Given the description of an element on the screen output the (x, y) to click on. 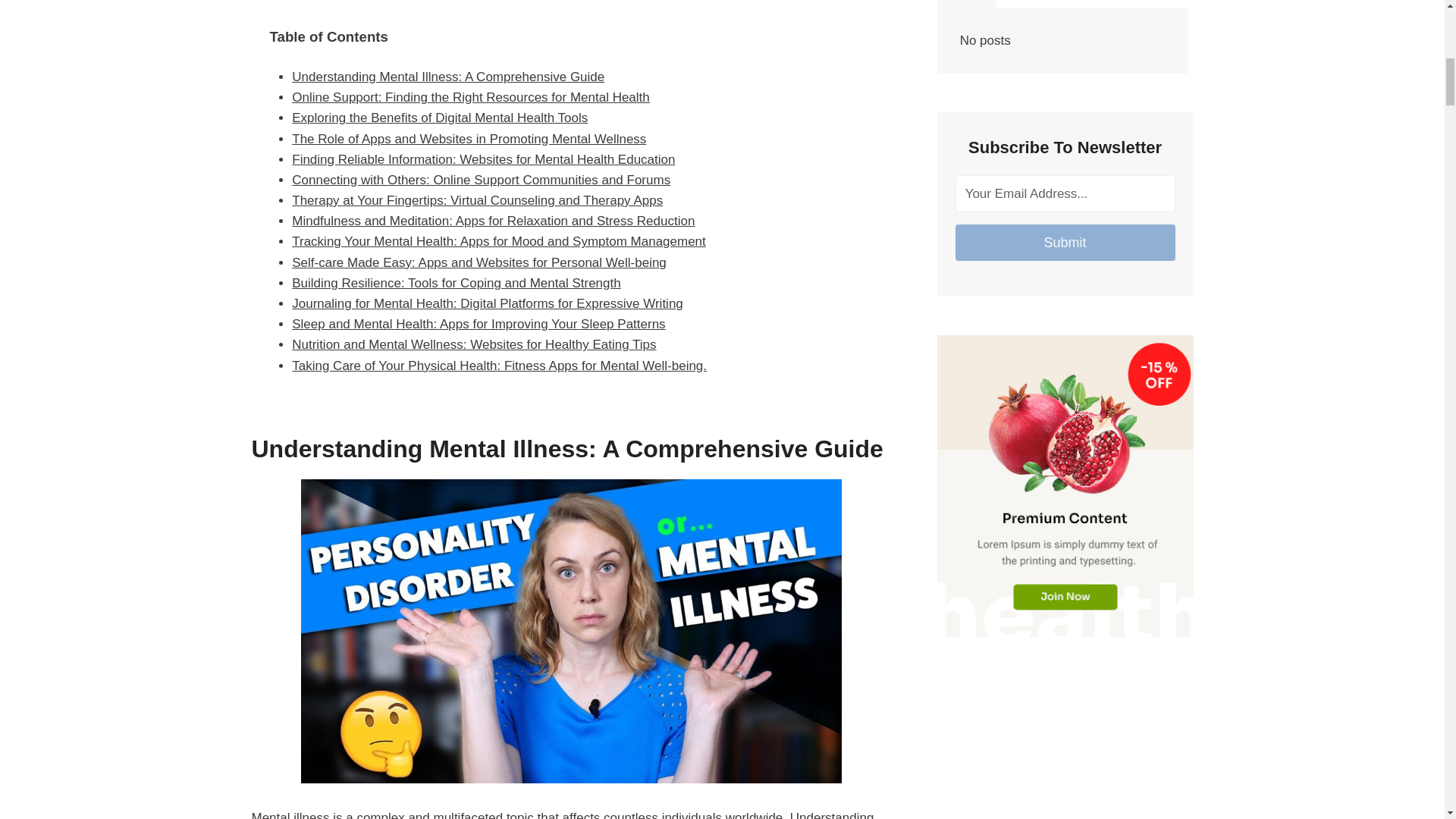
The Role of Apps and Websites in Promoting Mental Wellness (469, 138)
Understanding Mental Illness: A Comprehensive Guide (448, 76)
